Given the description of an element on the screen output the (x, y) to click on. 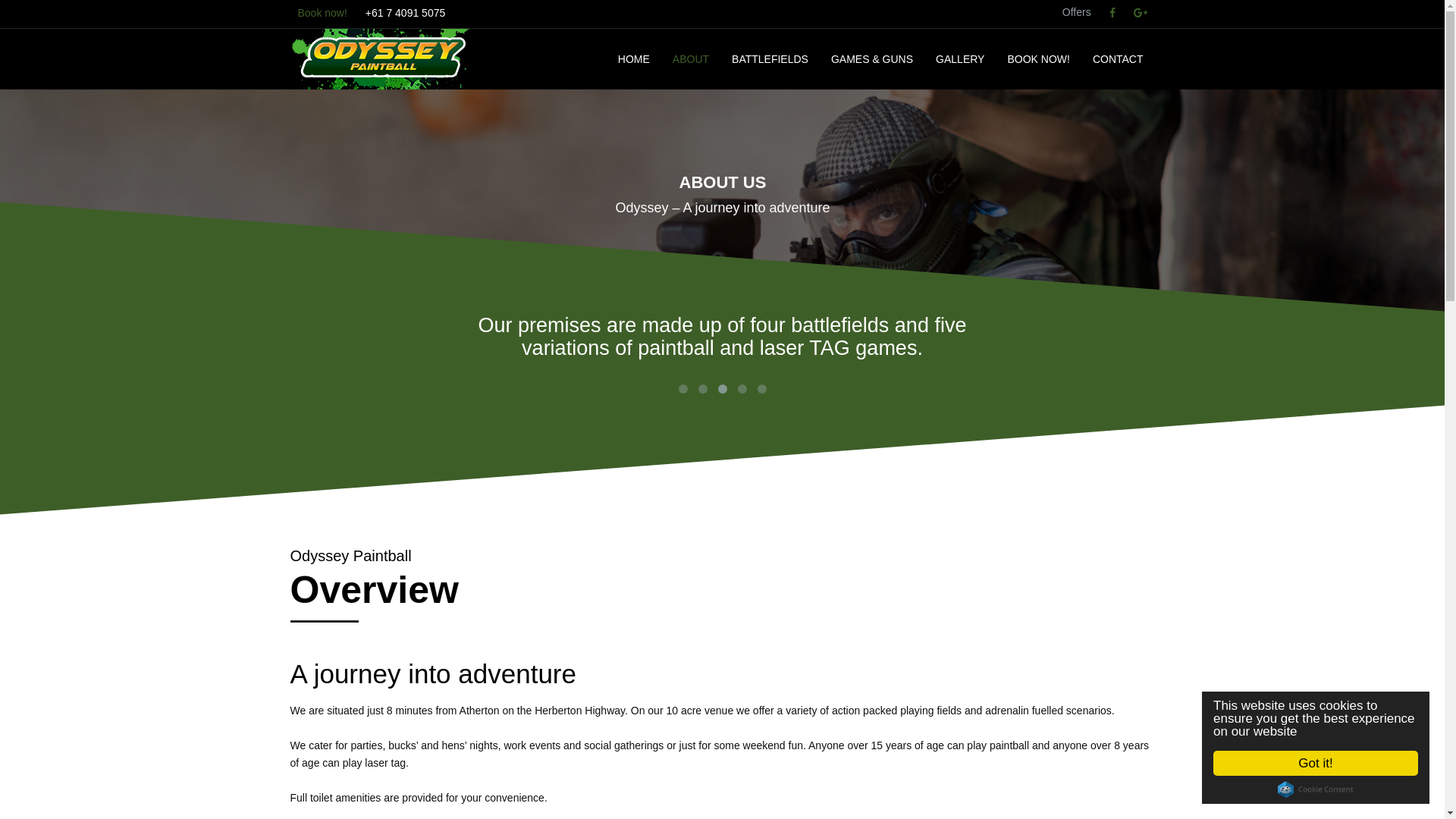
Offers Element type: text (1076, 12)
Book now! Element type: text (321, 12)
BATTLEFIELDS Element type: text (769, 58)
GALLERY Element type: text (959, 58)
CONTACT Element type: text (1117, 58)
BOOK NOW! Element type: text (1037, 58)
Cookie Consent plugin for the EU cookie law Element type: text (1315, 789)
GAMES & GUNS Element type: text (871, 58)
ABOUT Element type: text (690, 58)
Got it! Element type: text (1315, 762)
HOME Element type: text (633, 58)
Odyssey Element type: hover (379, 58)
